Given the description of an element on the screen output the (x, y) to click on. 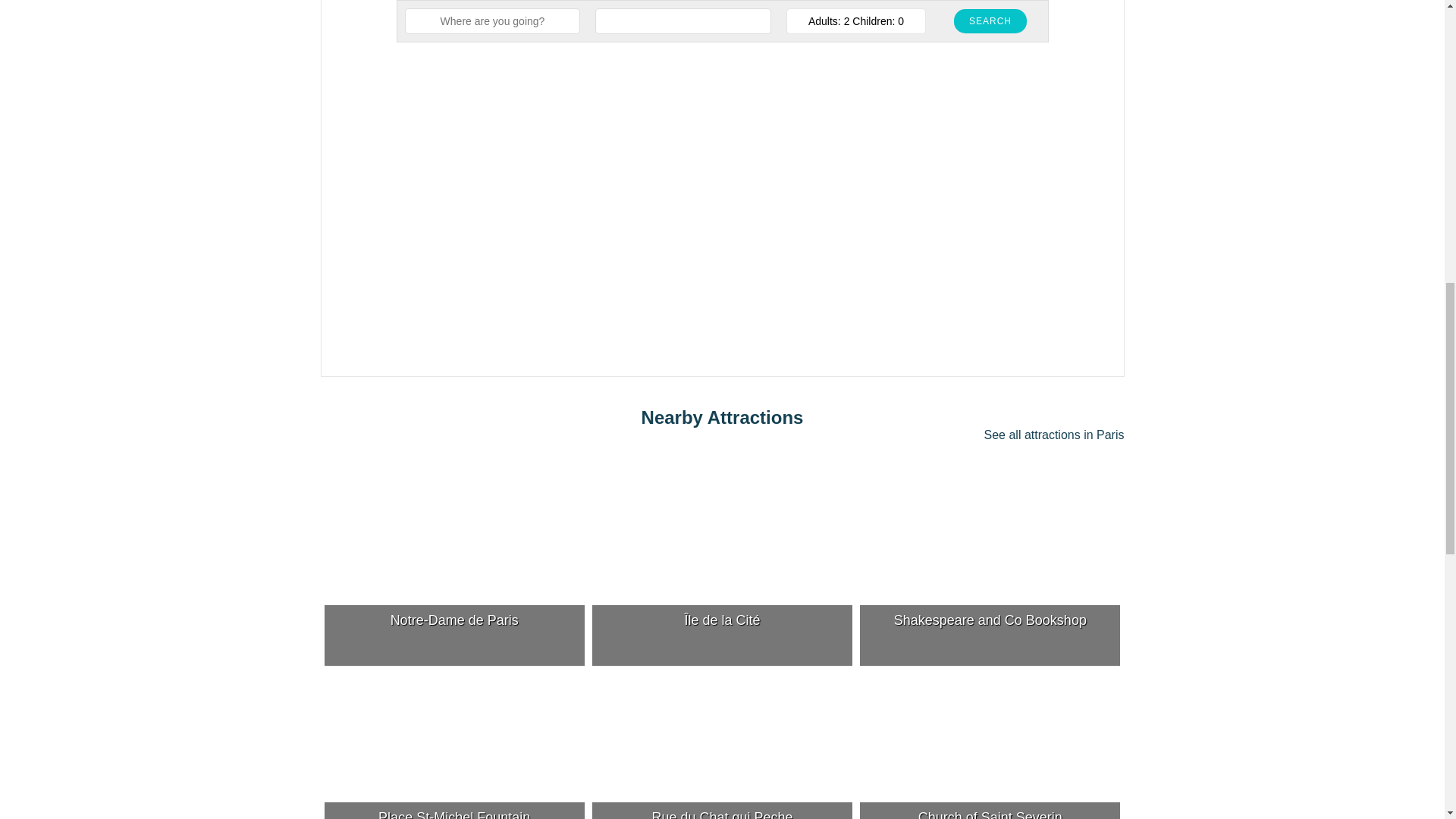
See all attractions in Paris (1054, 434)
Place St-Michel Fountain (454, 746)
Shakespeare and Co Bookshop (989, 570)
Notre-Dame de Paris (454, 570)
Church of Saint Severin (989, 746)
Rue du Chat qui Peche (721, 746)
